Given the description of an element on the screen output the (x, y) to click on. 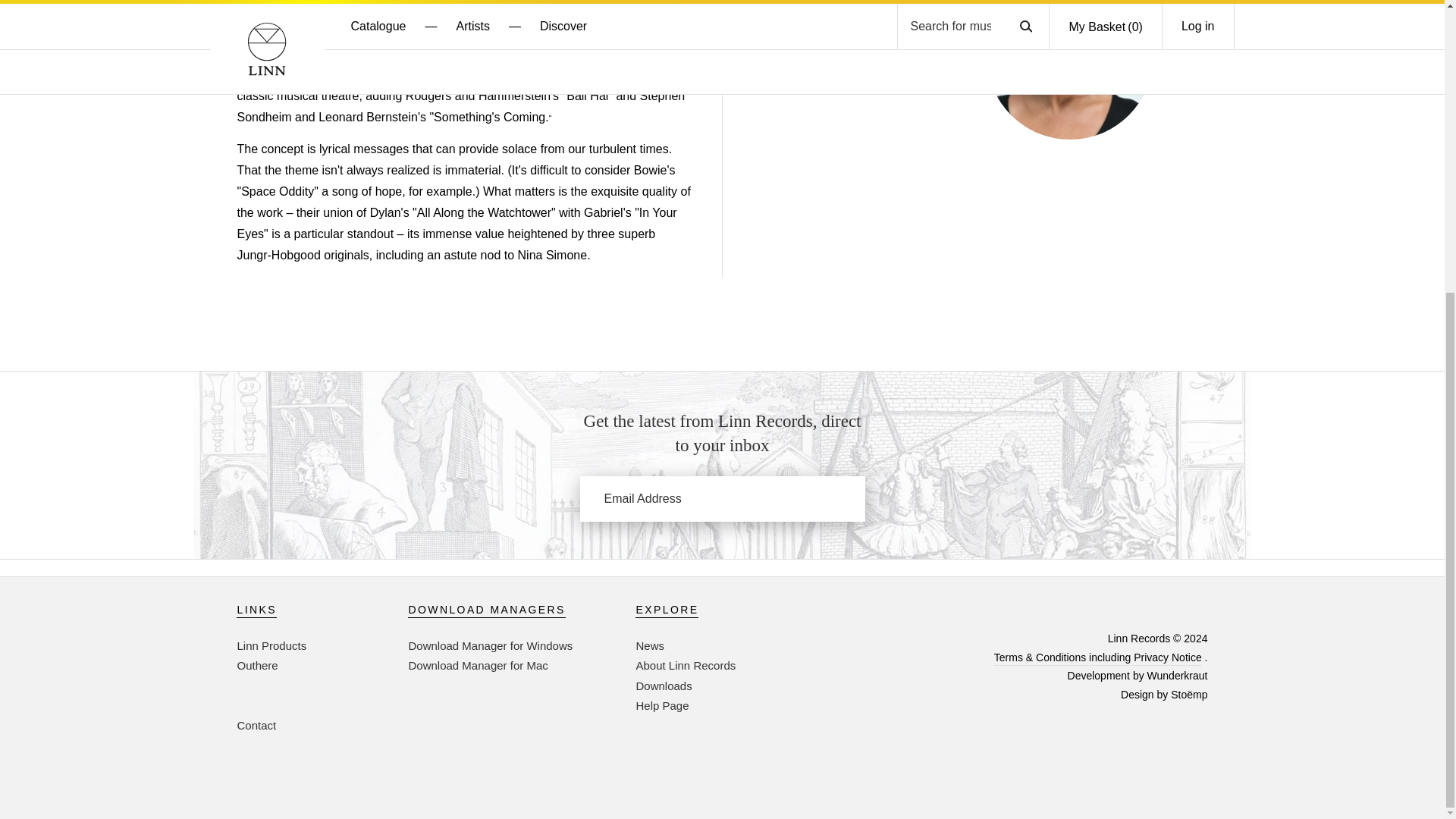
Get to Know us Better (684, 665)
Outhere (256, 665)
Linn Products (270, 645)
Help Page (661, 705)
twitter (1181, 609)
Downloads (662, 685)
Contact (255, 725)
Download Manager for Mac (477, 665)
Learn More About Downloads and Studio Master (662, 685)
Download Manager for Windows (489, 645)
